Given the description of an element on the screen output the (x, y) to click on. 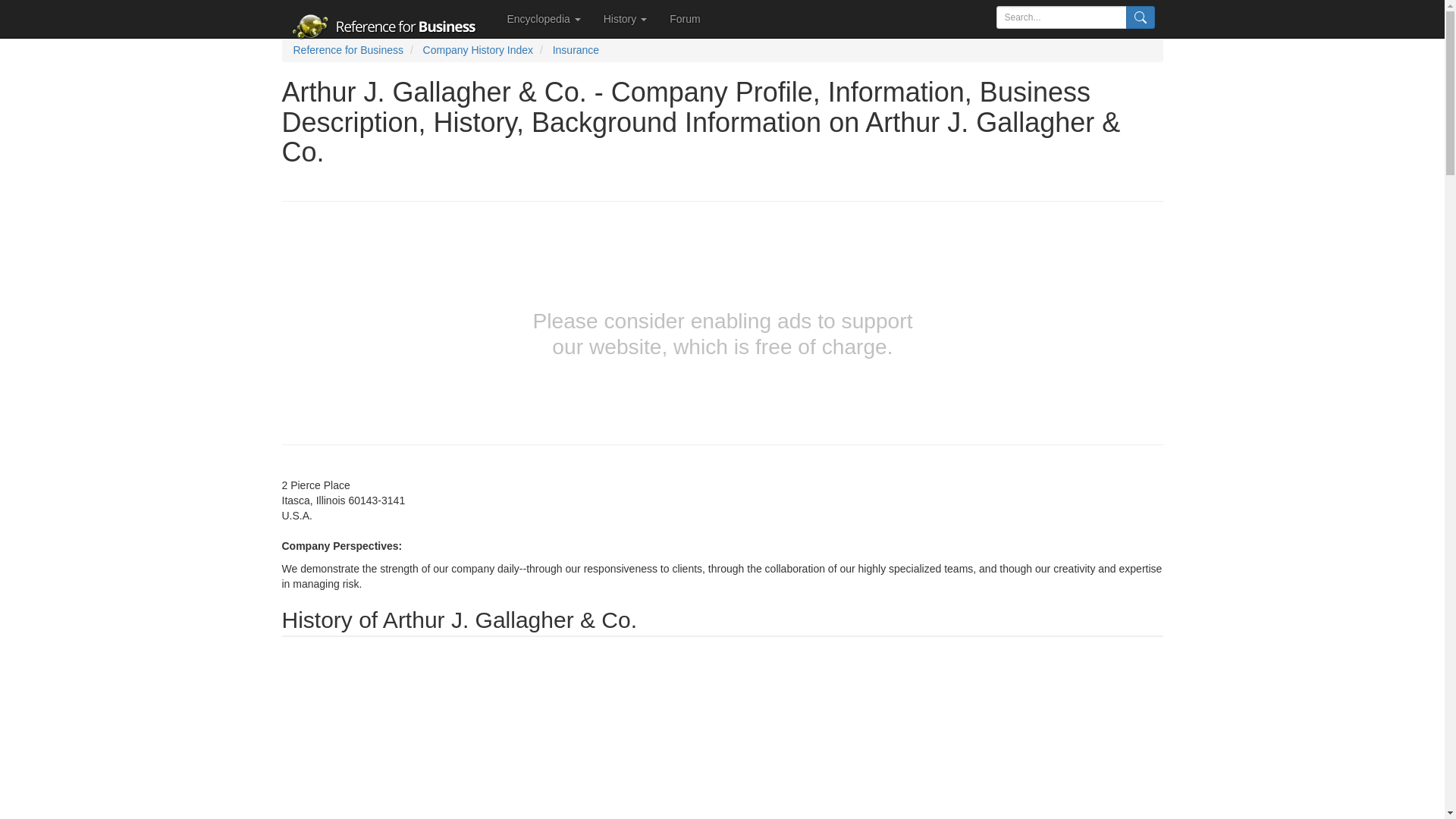
Beatrice Foods (633, 810)
property and casualty (774, 651)
economic depression (734, 742)
History (625, 18)
Gallagher (347, 651)
View 'reinsurance' definition from Wikipedia (858, 651)
Company History Index (478, 50)
Encyclopedia (544, 18)
View 'beatrice foods' definition from Wikipedia (633, 810)
reinsurance (858, 651)
Insurance (575, 50)
Advertisement (138, 306)
Reference for Business (347, 50)
View 'property and casualty' definition from Wikipedia (774, 651)
